Given the description of an element on the screen output the (x, y) to click on. 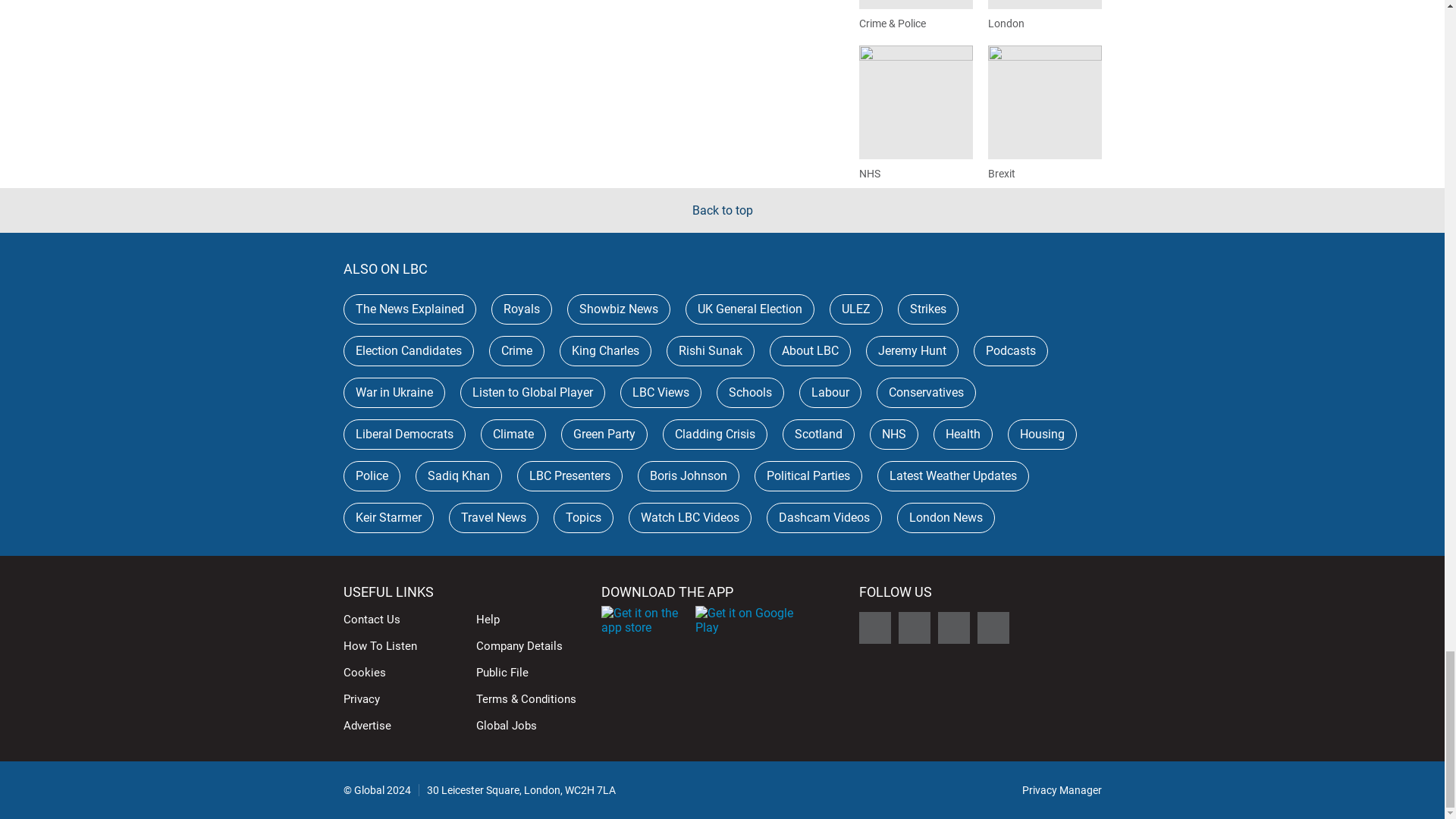
Follow LBC on Youtube (992, 627)
Follow LBC on Instagram (953, 627)
Back to top (721, 210)
Follow LBC on Facebook (914, 627)
Follow LBC on X (874, 627)
